Given the description of an element on the screen output the (x, y) to click on. 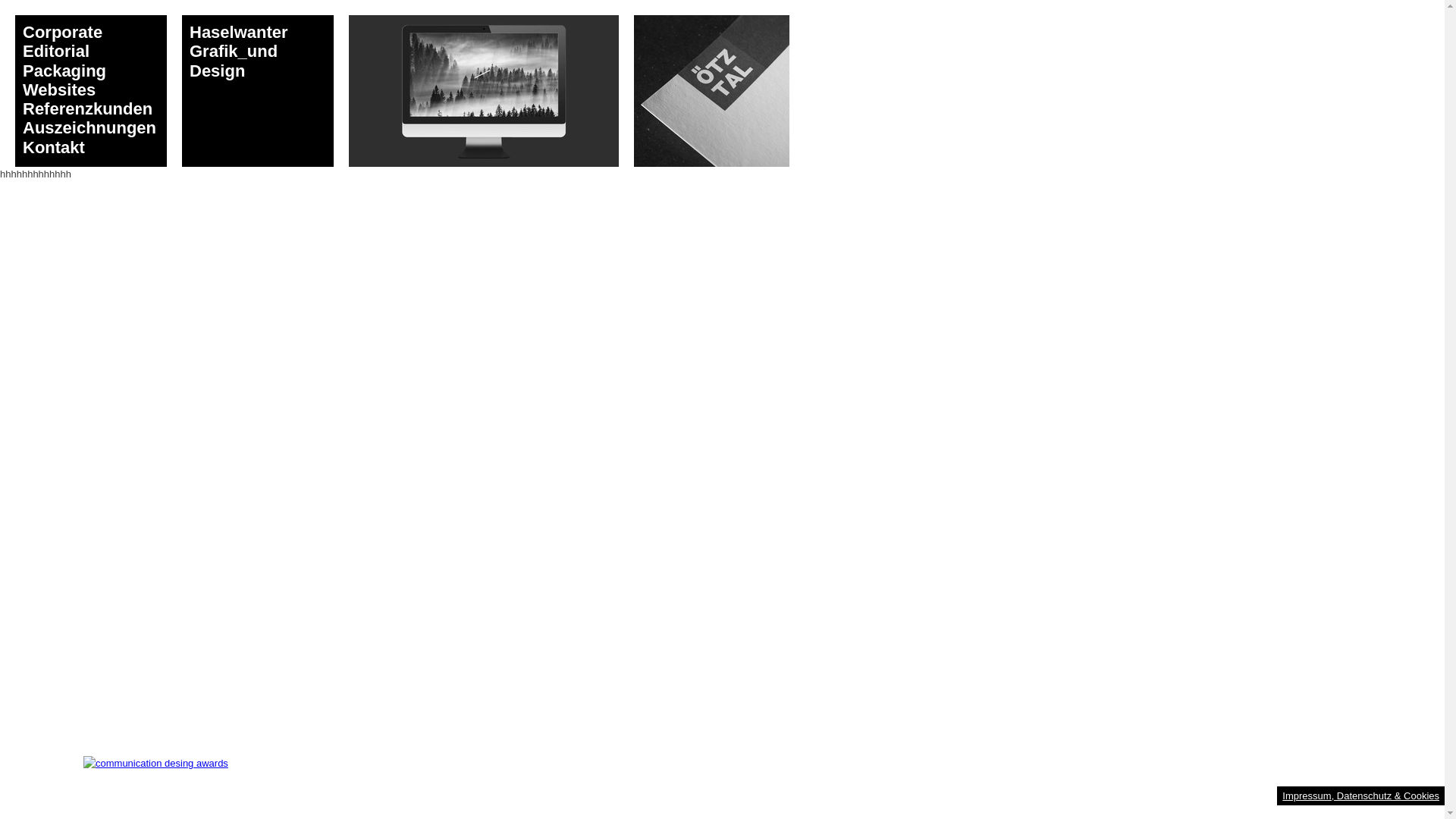
Haselwanter
Grafik_und Design Element type: text (257, 90)
Corporate Element type: text (62, 31)
Auszeichnungen Element type: text (89, 127)
Packaging Element type: text (64, 70)
Referenzkunden Element type: text (87, 108)
Editorial Element type: text (55, 50)
Kontakt Element type: text (53, 147)
communication desing awards Element type: hover (155, 763)
Websites Element type: text (58, 89)
Impressum, Datenschutz & Cookies Element type: text (1360, 795)
